Given the description of an element on the screen output the (x, y) to click on. 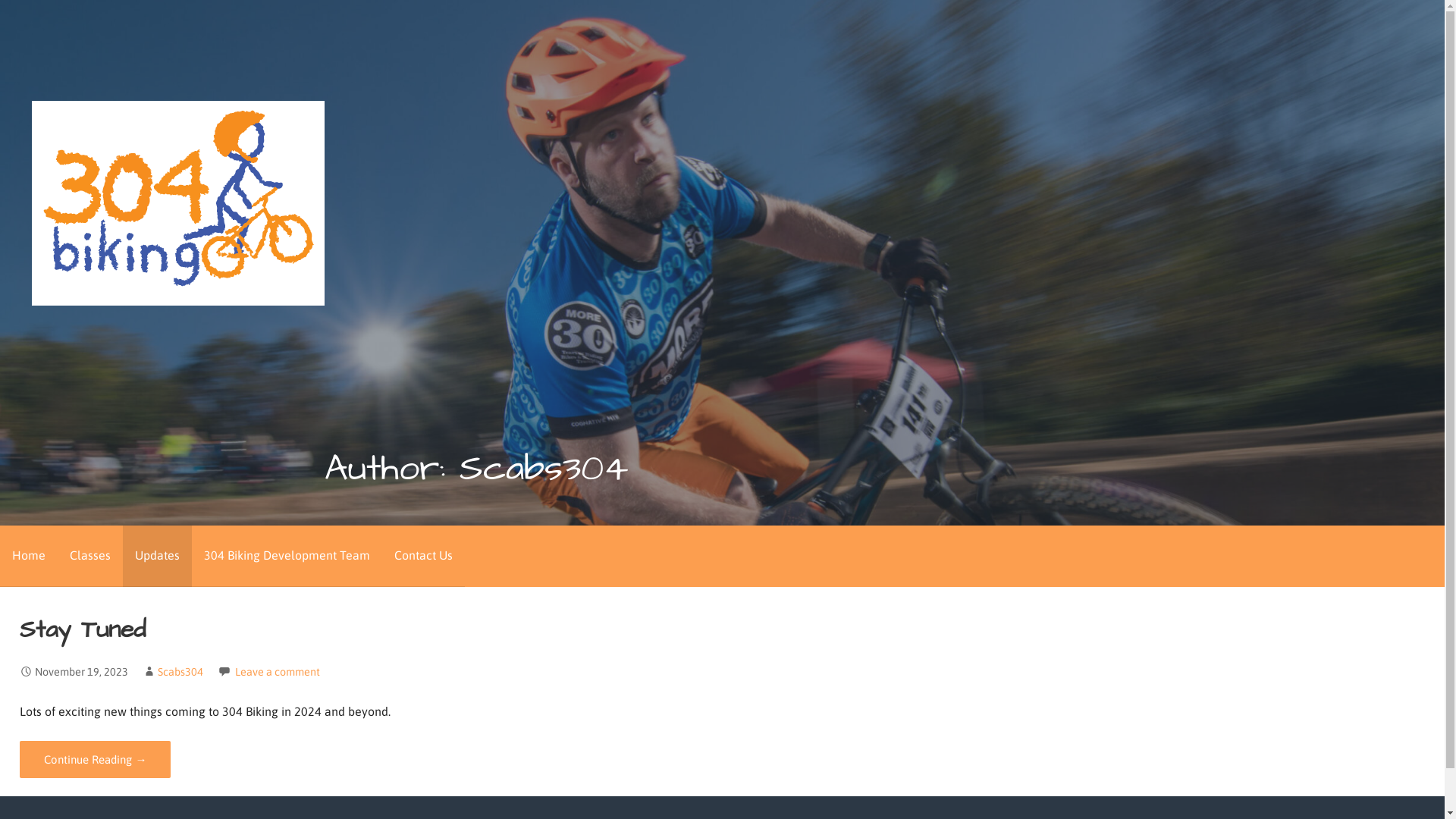
Scabs304 Element type: text (180, 671)
Updates Element type: text (156, 555)
Classes Element type: text (89, 555)
304 Biking Development Team Element type: text (286, 555)
Home Element type: text (28, 555)
Leave a comment Element type: text (277, 671)
Stay Tuned Element type: text (82, 629)
Contact Us Element type: text (423, 555)
